Given the description of an element on the screen output the (x, y) to click on. 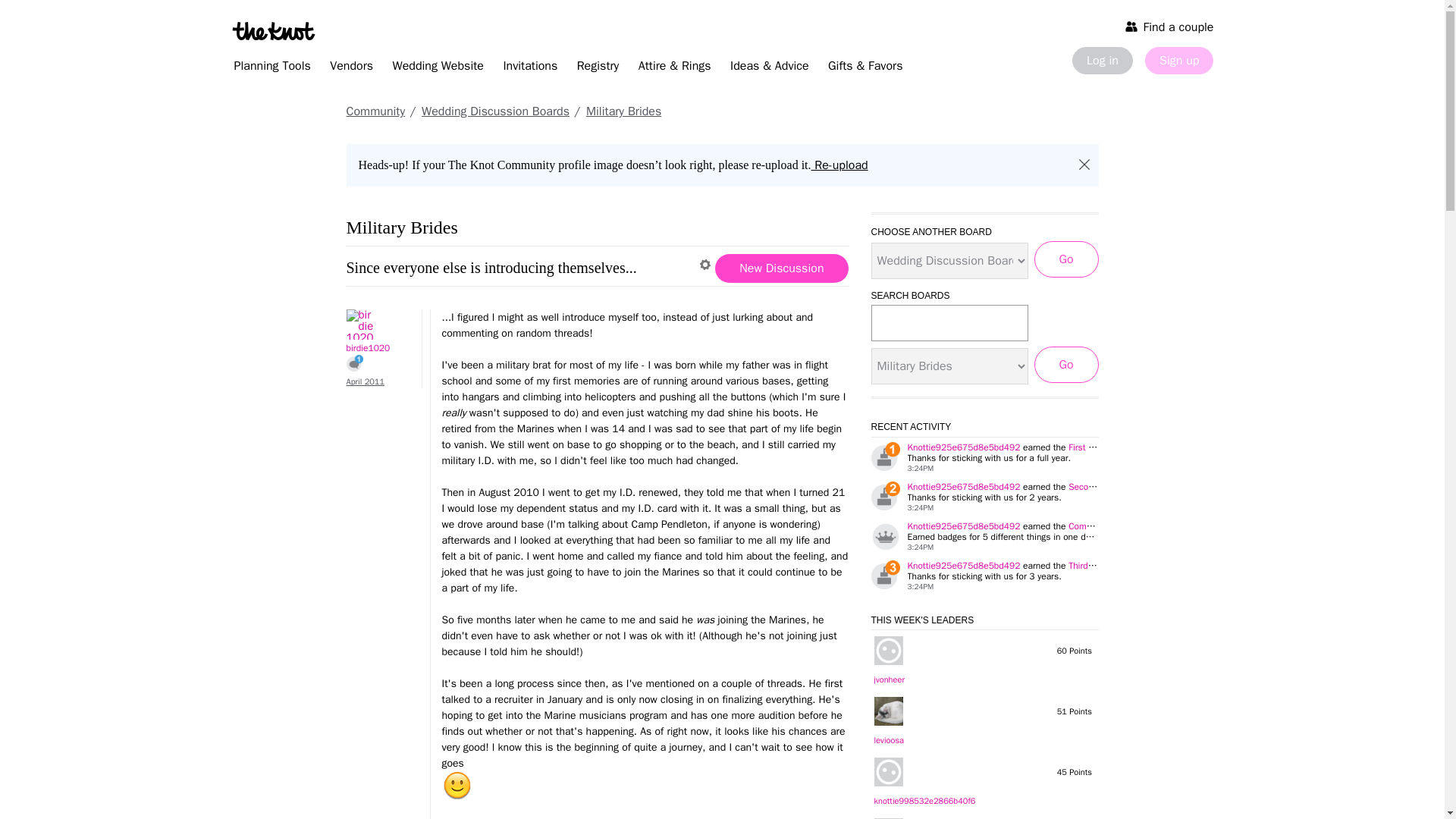
birdie1020 (376, 324)
April 20, 2011 2:06PM (365, 380)
Sign up (1178, 60)
Registry (598, 68)
Wedding Website (438, 68)
Go (1066, 258)
First Comment (354, 362)
Log in (1101, 60)
Planning Tools (271, 68)
Options (706, 264)
